Given the description of an element on the screen output the (x, y) to click on. 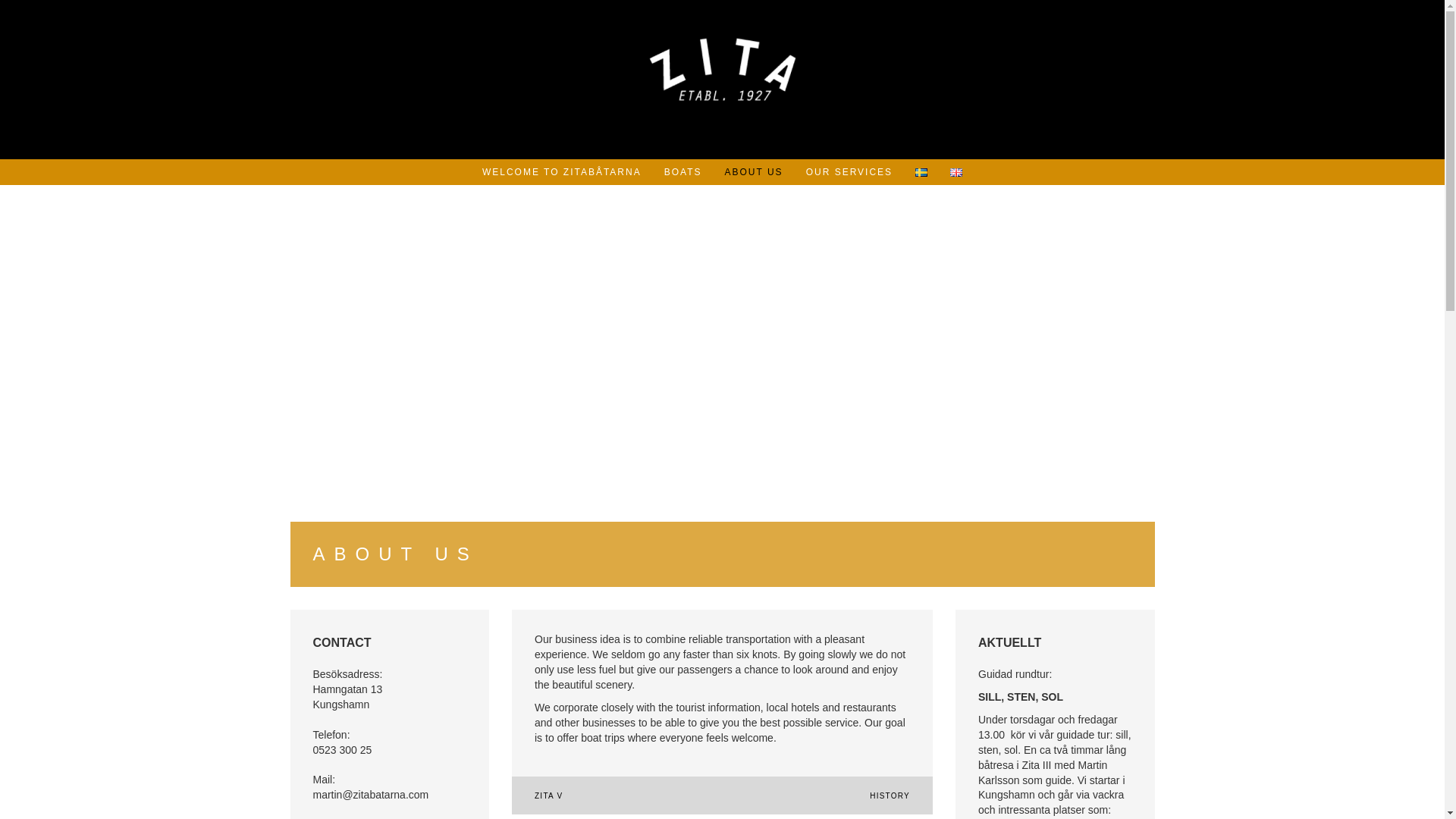
BOATS (682, 171)
OUR SERVICES (849, 171)
English (956, 172)
ZITA V (548, 795)
Svenska (921, 172)
HISTORY (889, 795)
Page 1 (1055, 743)
ABOUT US (754, 171)
